Given the description of an element on the screen output the (x, y) to click on. 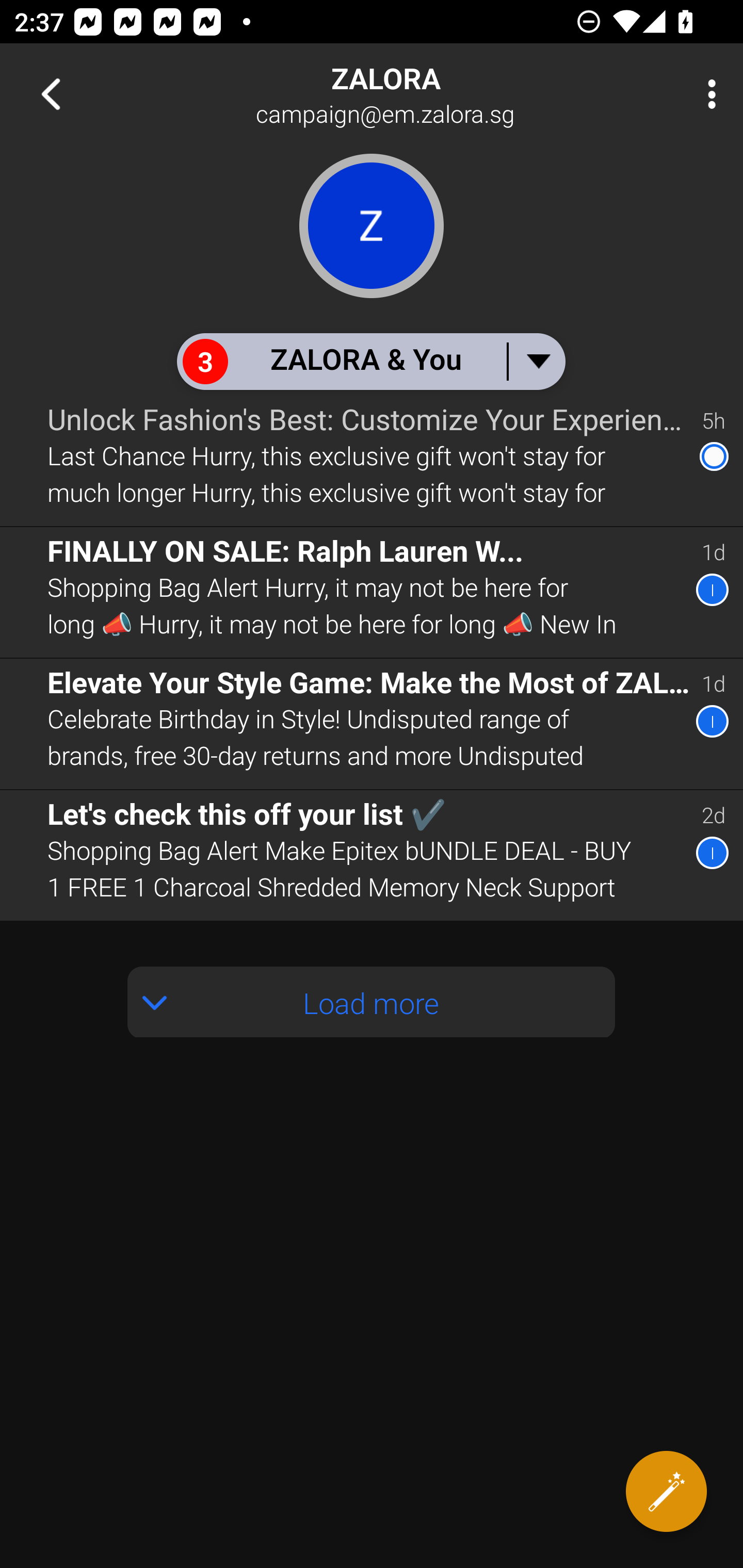
Navigate up (50, 93)
ZALORA campaign@em.zalora.sg (436, 93)
More Options (706, 93)
3 ZALORA & You (370, 361)
Load more (371, 1001)
